Given the description of an element on the screen output the (x, y) to click on. 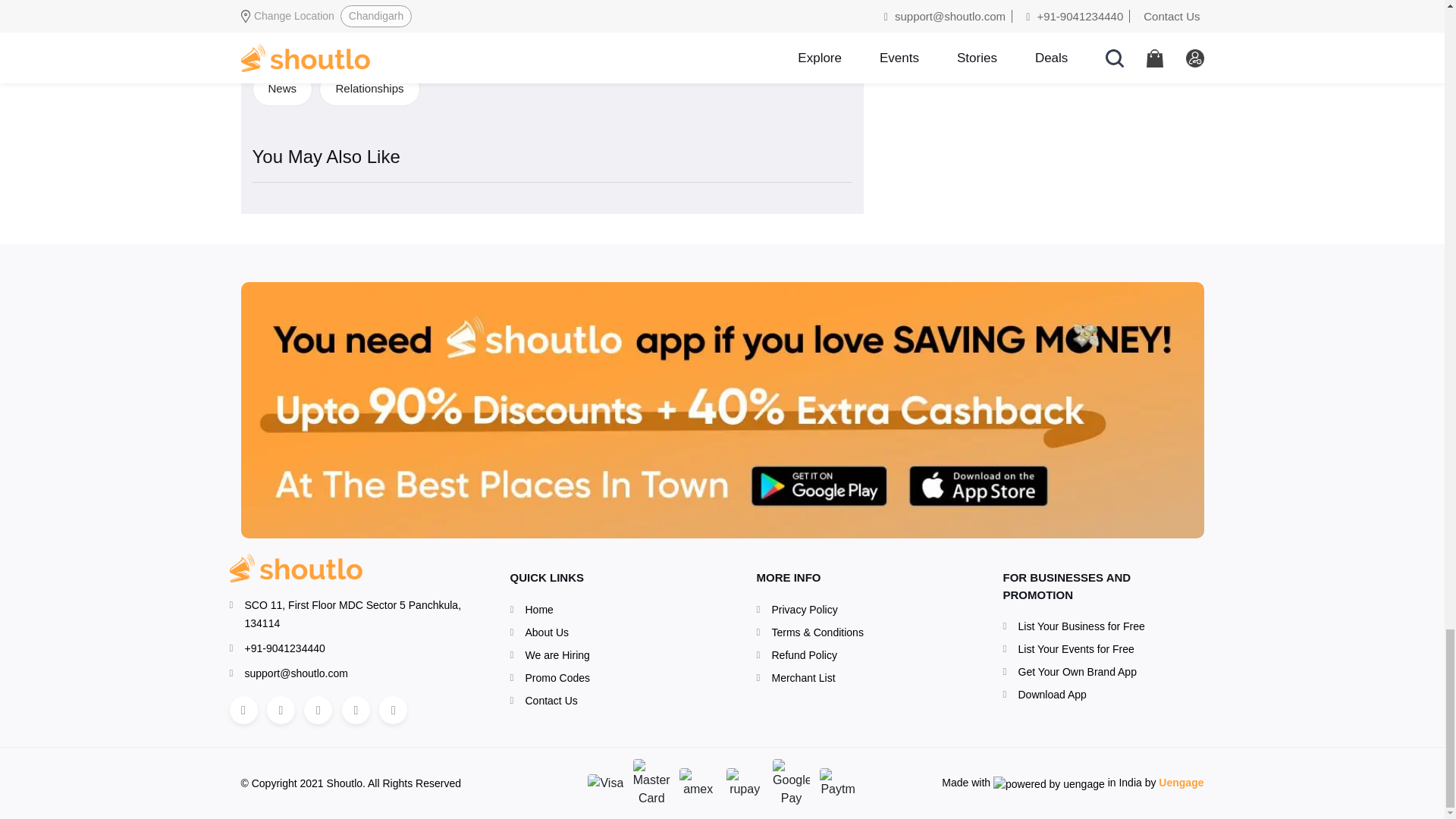
Twitter (355, 709)
Instagram (280, 709)
rupay (744, 783)
Facebook (242, 709)
Youtube (392, 709)
Linkedin (317, 709)
amex (697, 783)
